Given the description of an element on the screen output the (x, y) to click on. 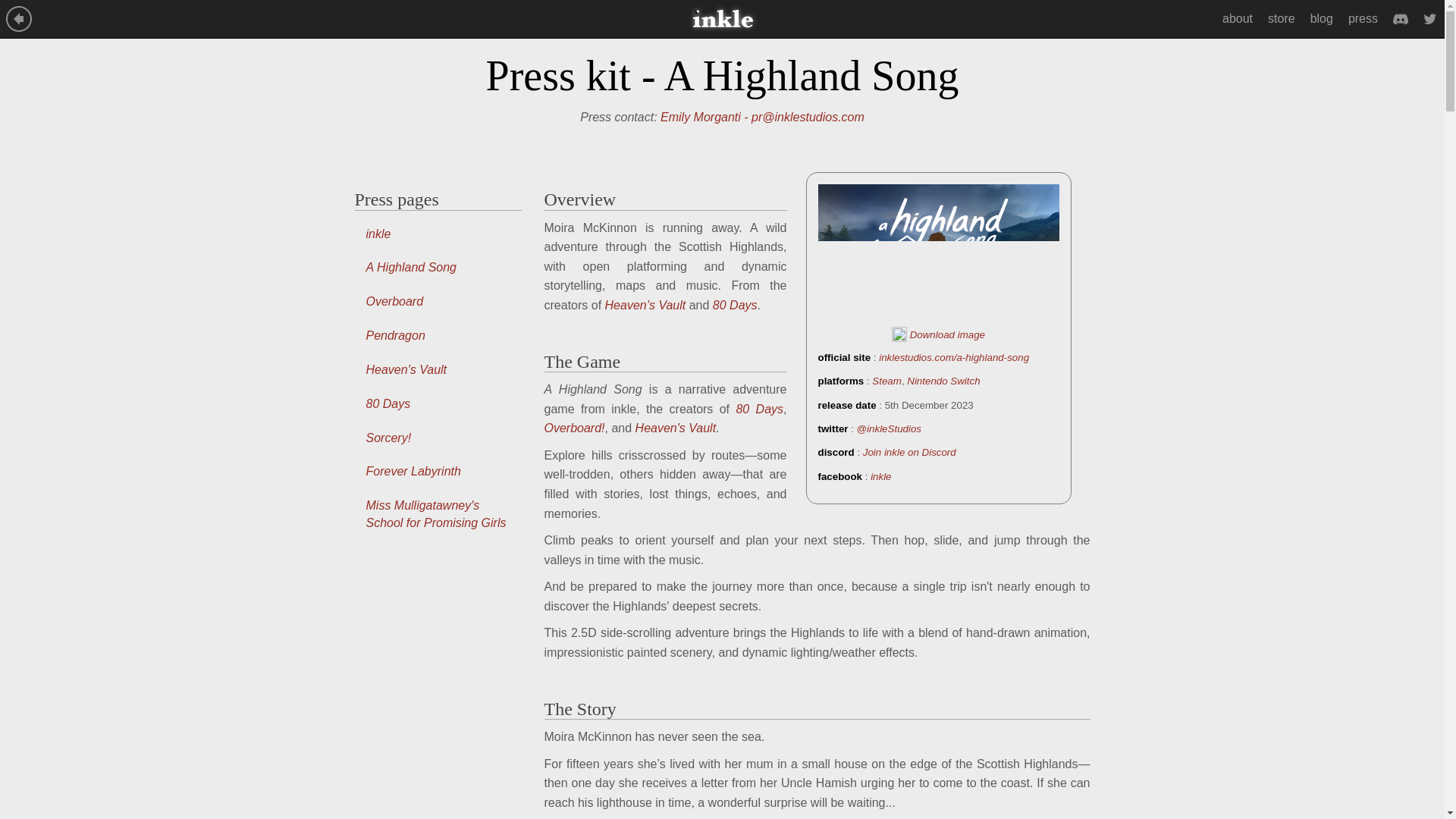
Miss Mulligatawney's School for Promising Girls (438, 514)
Join inkle on Discord (909, 451)
inkle (880, 476)
inkle (438, 234)
80 Days (438, 404)
Download image (937, 334)
Overboard (438, 301)
Nintendo Switch (943, 380)
Overboard! (574, 427)
press (1363, 18)
Sorcery! (438, 438)
Steam (886, 380)
Forever Labyrinth (438, 471)
Heaven's Vault (438, 369)
store (1281, 18)
